Given the description of an element on the screen output the (x, y) to click on. 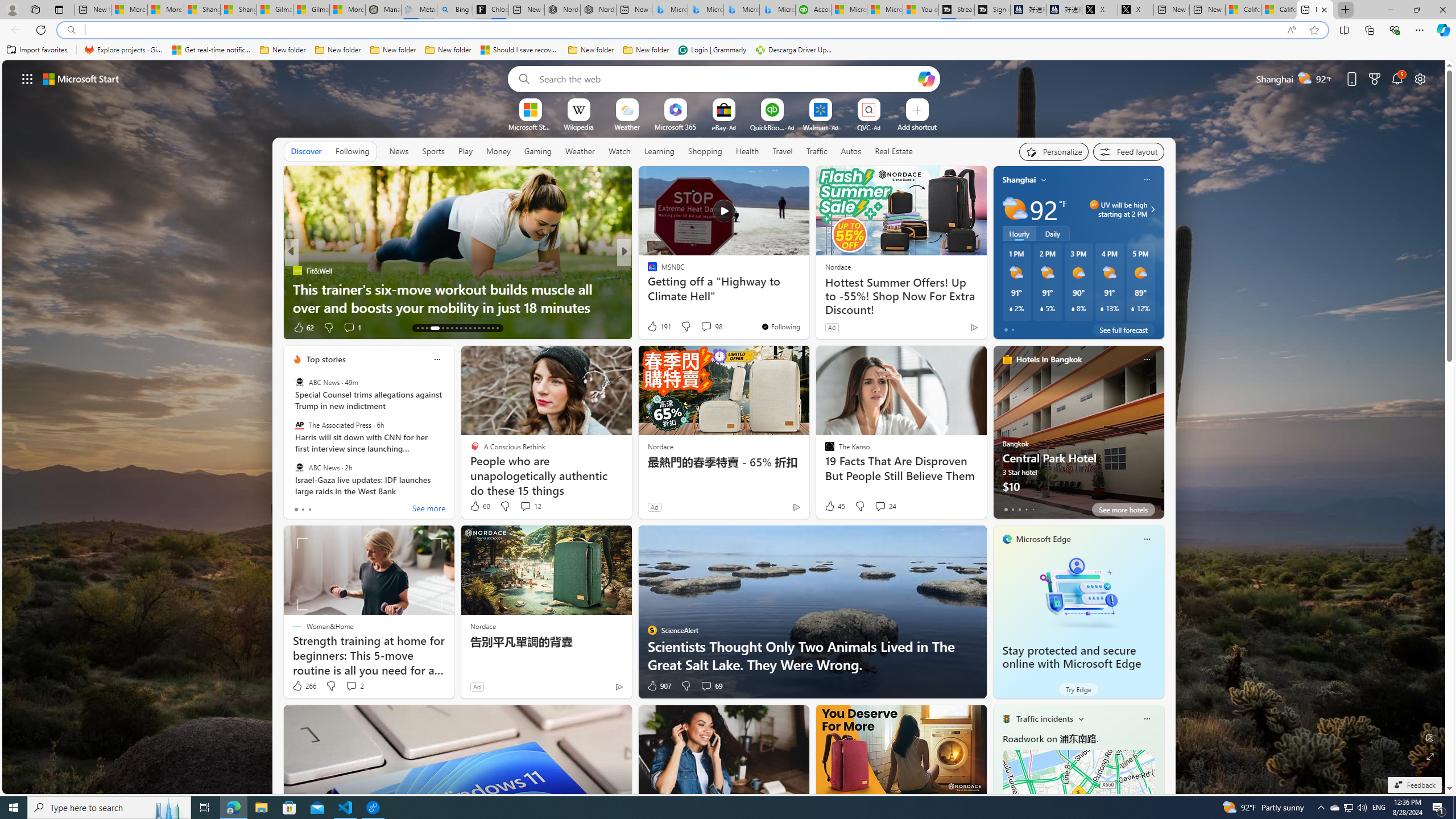
7 Things You Should Negotiate Other Than Your Salary (807, 298)
AutomationID: tab-22 (465, 328)
tab-2 (1019, 509)
These Invasive Reptiles Are Taking Over California (457, 307)
View comments 24 Comment (885, 505)
View comments 98 Comment (705, 326)
